Given the description of an element on the screen output the (x, y) to click on. 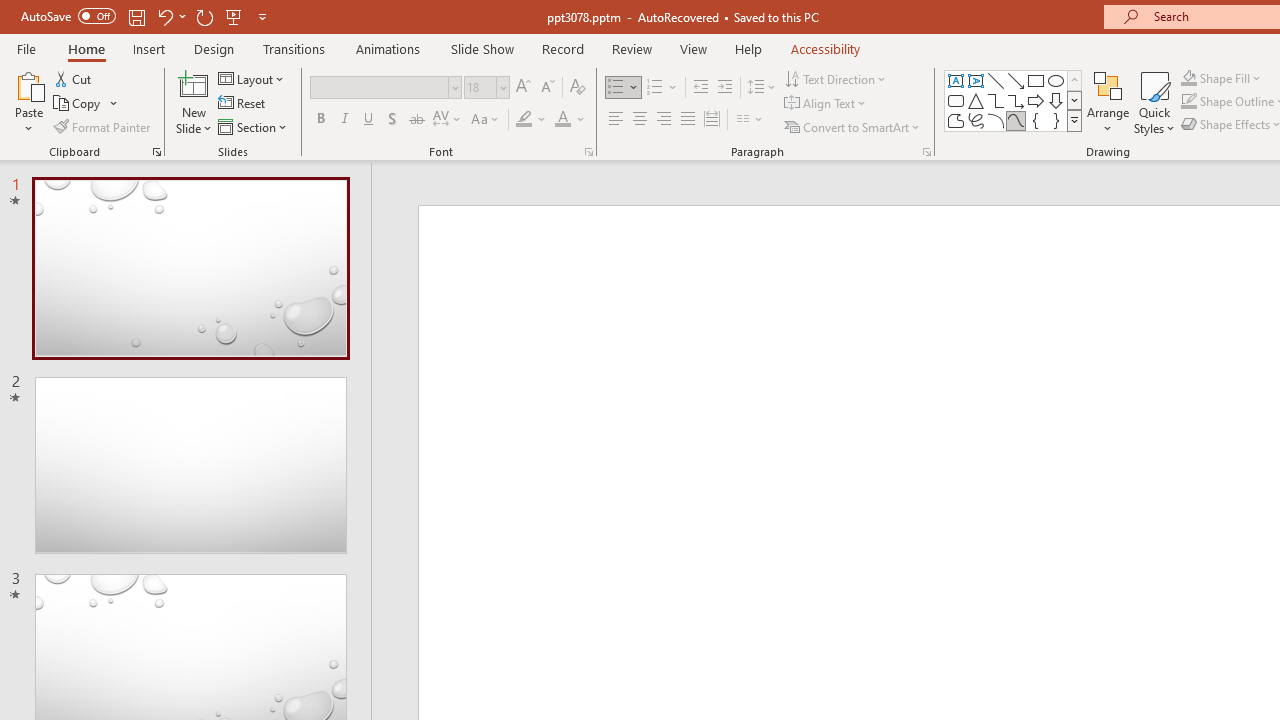
Labels... (232, 161)
Highlight Merge Fields (664, 161)
Undo Number Default (290, 31)
Match Fields... (1057, 161)
Rules (1037, 126)
Edit Recipient List... (532, 161)
Insert Merge Field (927, 161)
Chinese Envelope... (68, 161)
